Given the description of an element on the screen output the (x, y) to click on. 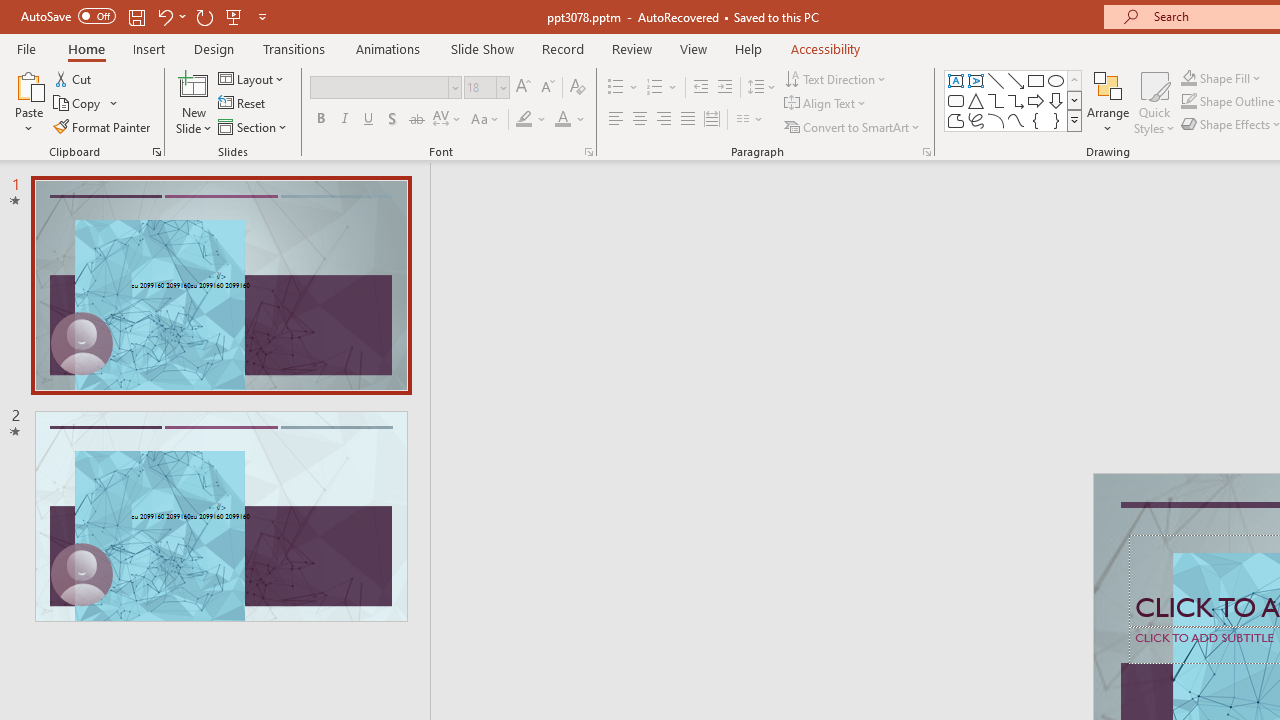
Justify (687, 119)
Text Highlight Color (531, 119)
Align Text (826, 103)
Vertical Text Box (975, 80)
Arrow: Right (1035, 100)
Oval (1055, 80)
Align Left (616, 119)
Bold (320, 119)
Quick Styles (1154, 102)
Clear Formatting (577, 87)
Align Right (663, 119)
